Given the description of an element on the screen output the (x, y) to click on. 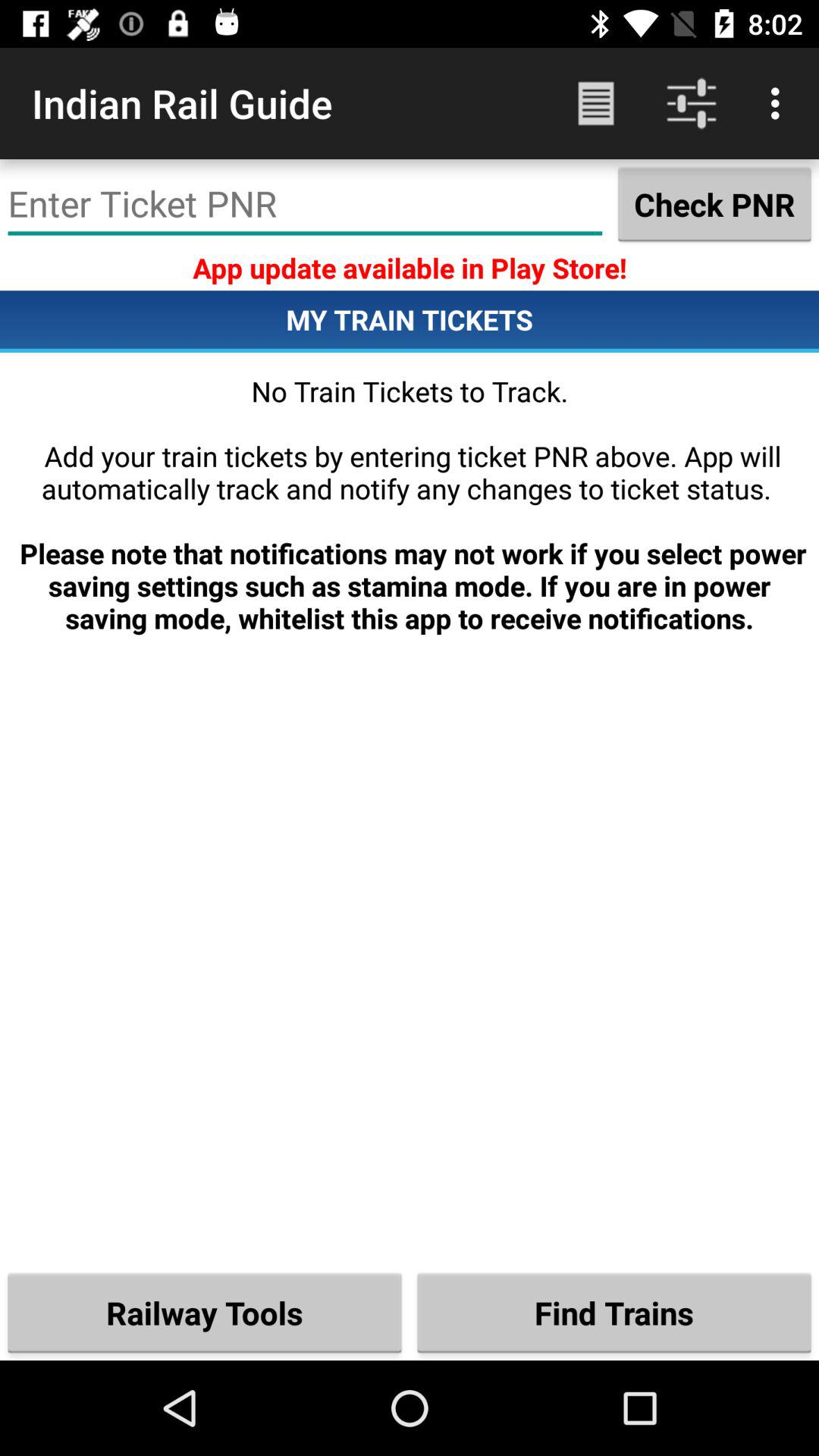
launch item below the no train tickets item (614, 1312)
